Given the description of an element on the screen output the (x, y) to click on. 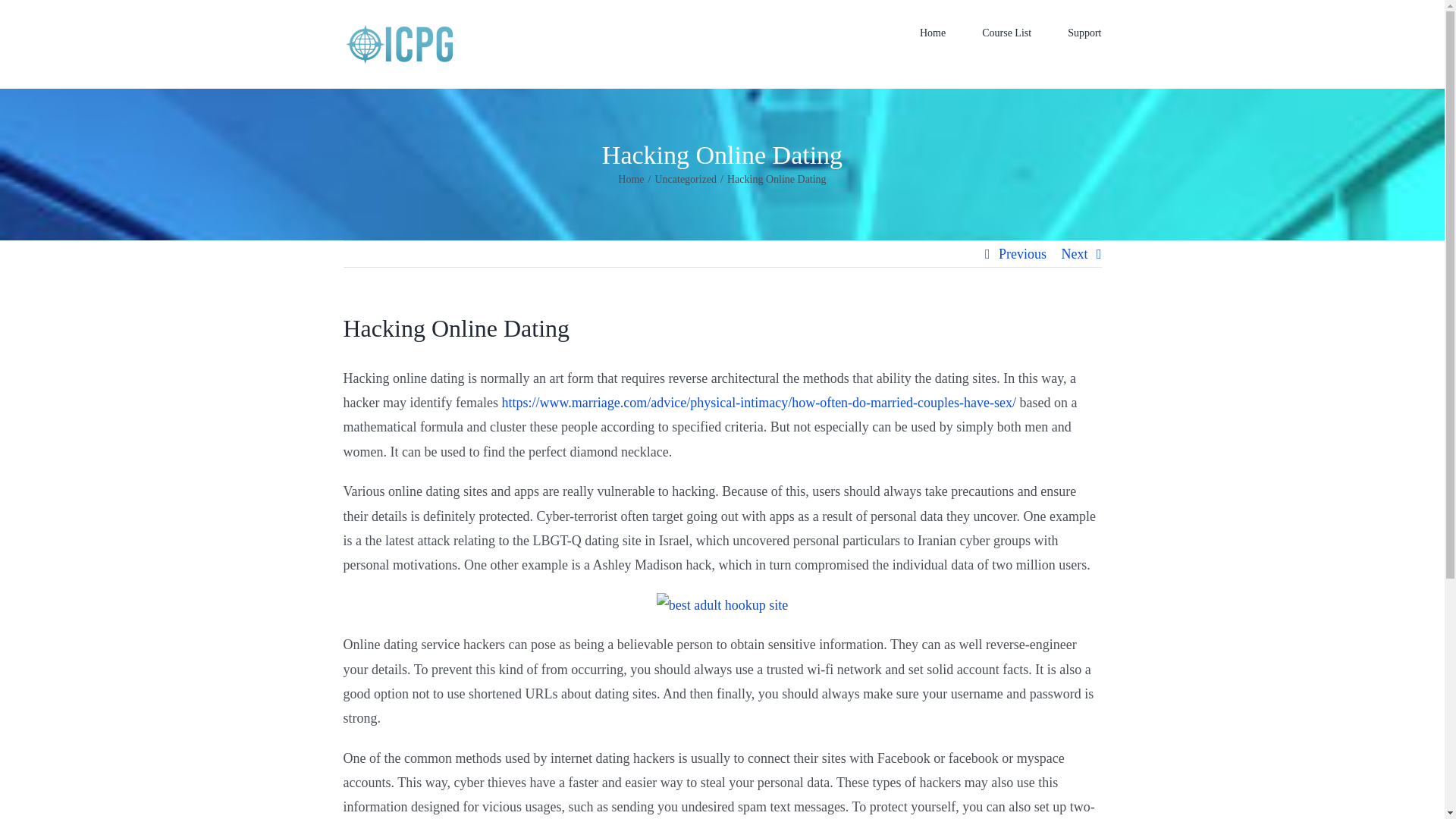
Home (630, 179)
Previous (1022, 253)
Uncategorized (684, 179)
Next (1074, 253)
Home (932, 31)
Support (1083, 31)
Course List (1005, 31)
